Given the description of an element on the screen output the (x, y) to click on. 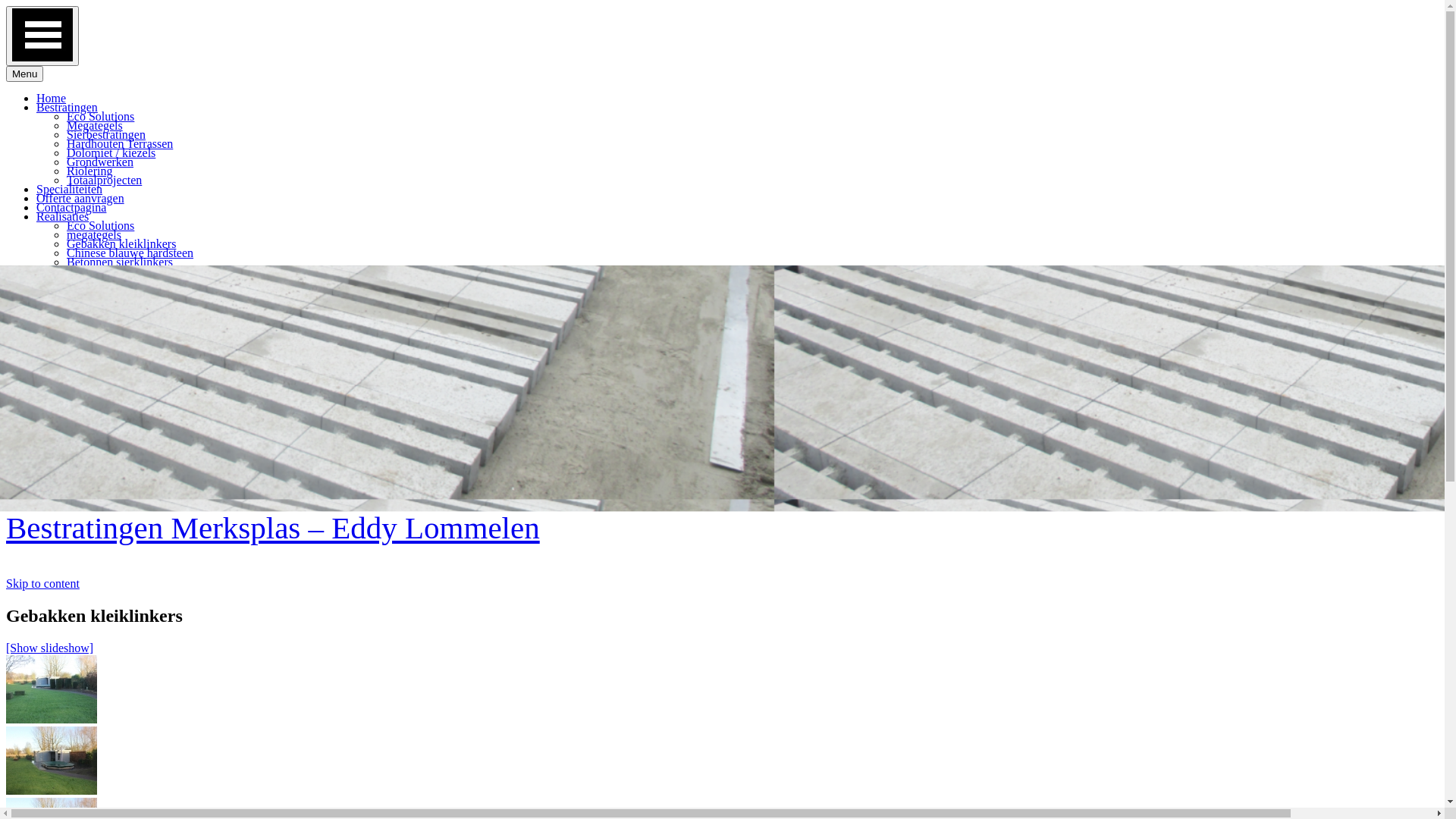
[Show slideshow] Element type: text (49, 647)
Specialiteiten Element type: text (69, 188)
megategels Element type: text (93, 234)
Eco Solutions Element type: text (100, 115)
2517__chinese_blauwe_hardsteen_60x40__zwembad Element type: hover (51, 760)
Realisaties Element type: text (62, 216)
Menu Element type: text (24, 73)
Home Element type: text (50, 97)
Riolering Element type: text (89, 170)
Gebakken kleiklinkers Element type: text (120, 243)
Offerte aanvragen Element type: text (80, 197)
Chinese blauwe hardsteen Element type: text (129, 252)
Skip to content Element type: text (42, 583)
Bestratingen Element type: text (66, 106)
Totaalprojecten Element type: text (103, 179)
Sierbestratingen Element type: text (105, 134)
Megategels Element type: text (94, 125)
Contactpagina Element type: text (71, 206)
Betonnen sierklinkers Element type: text (119, 261)
Dolomiet / kiezels Element type: text (110, 152)
Grondwerken Element type: text (99, 161)
Hardhouten Terrassen Element type: text (119, 143)
Eco Solutions Element type: text (100, 225)
